Given the description of an element on the screen output the (x, y) to click on. 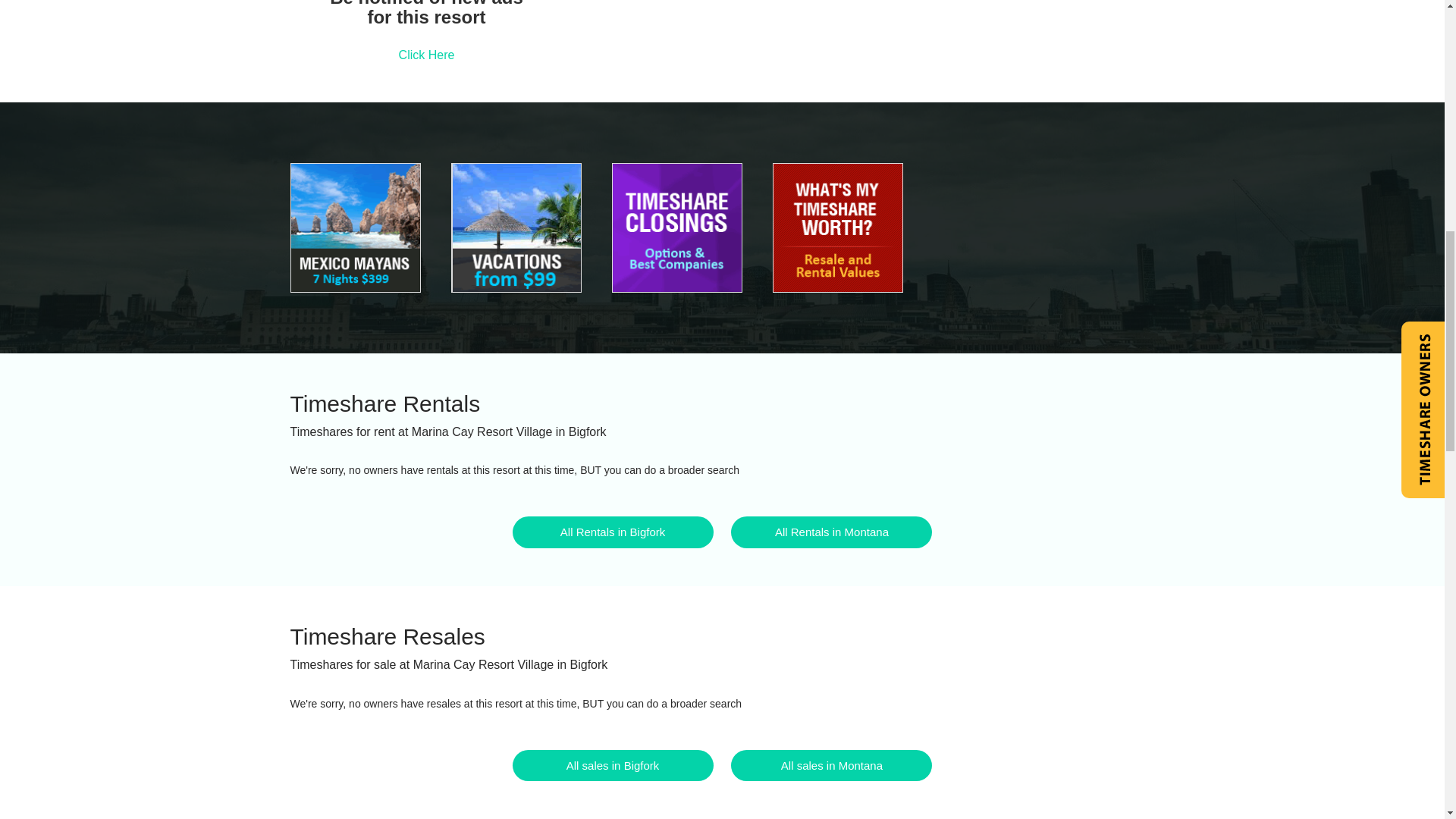
Marina Cay Resort Village (354, 227)
Marina Cay Resort Village (514, 227)
